Given the description of an element on the screen output the (x, y) to click on. 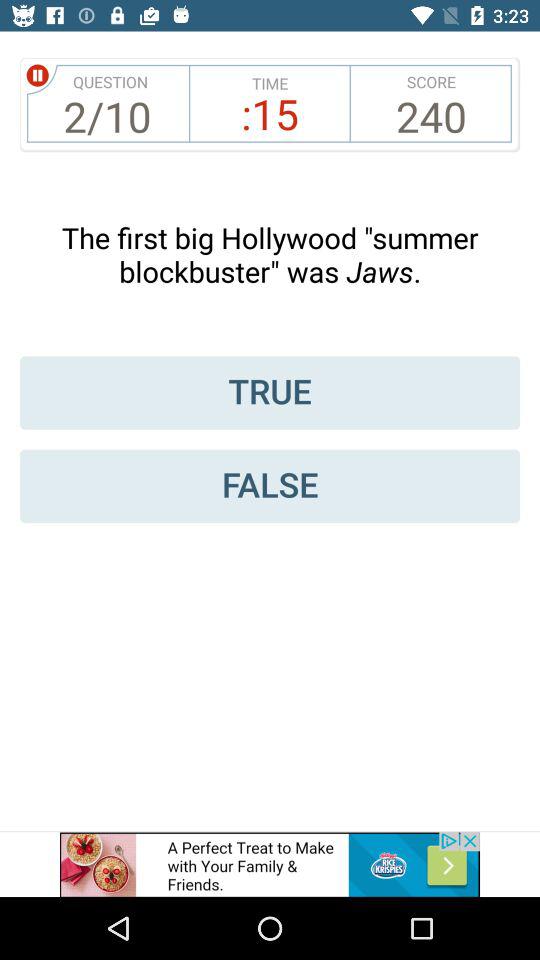
go to the advertisement page (270, 864)
